Given the description of an element on the screen output the (x, y) to click on. 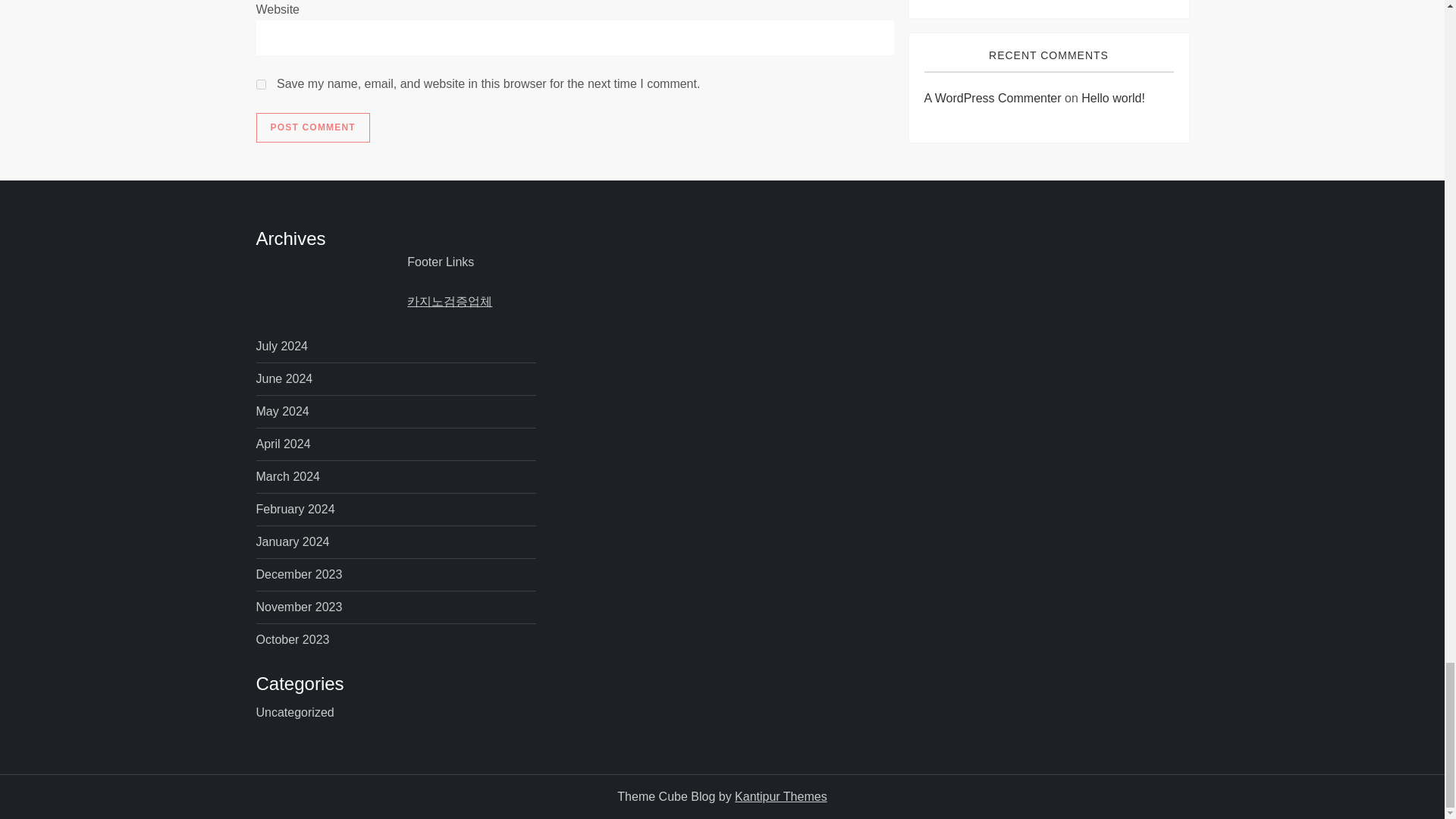
May 2024 (282, 411)
January 2024 (293, 541)
November 2023 (299, 607)
April 2024 (283, 444)
yes (261, 84)
December 2023 (299, 574)
July 2024 (282, 346)
June 2024 (284, 378)
February 2024 (295, 509)
Post Comment (312, 128)
Post Comment (312, 128)
March 2024 (288, 476)
